Given the description of an element on the screen output the (x, y) to click on. 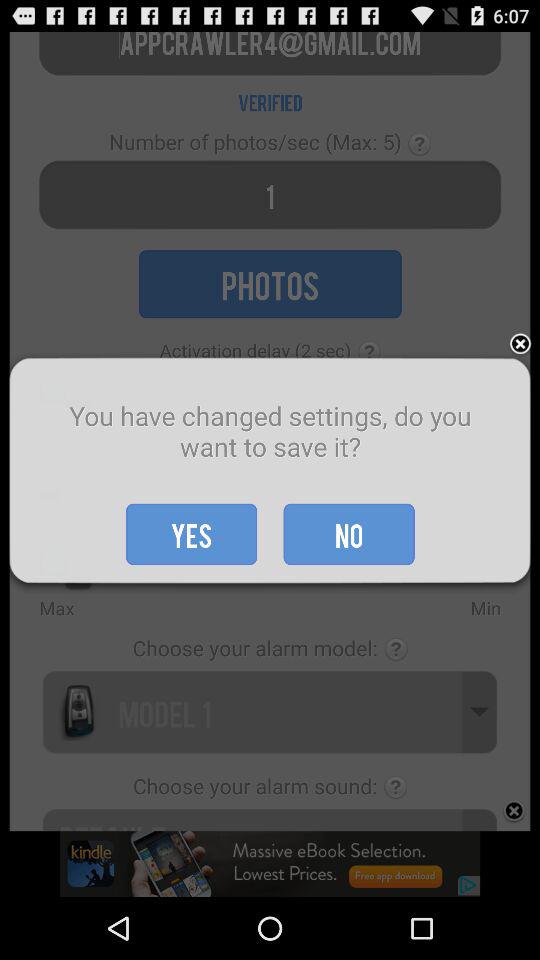
turn on item on the right (520, 344)
